Given the description of an element on the screen output the (x, y) to click on. 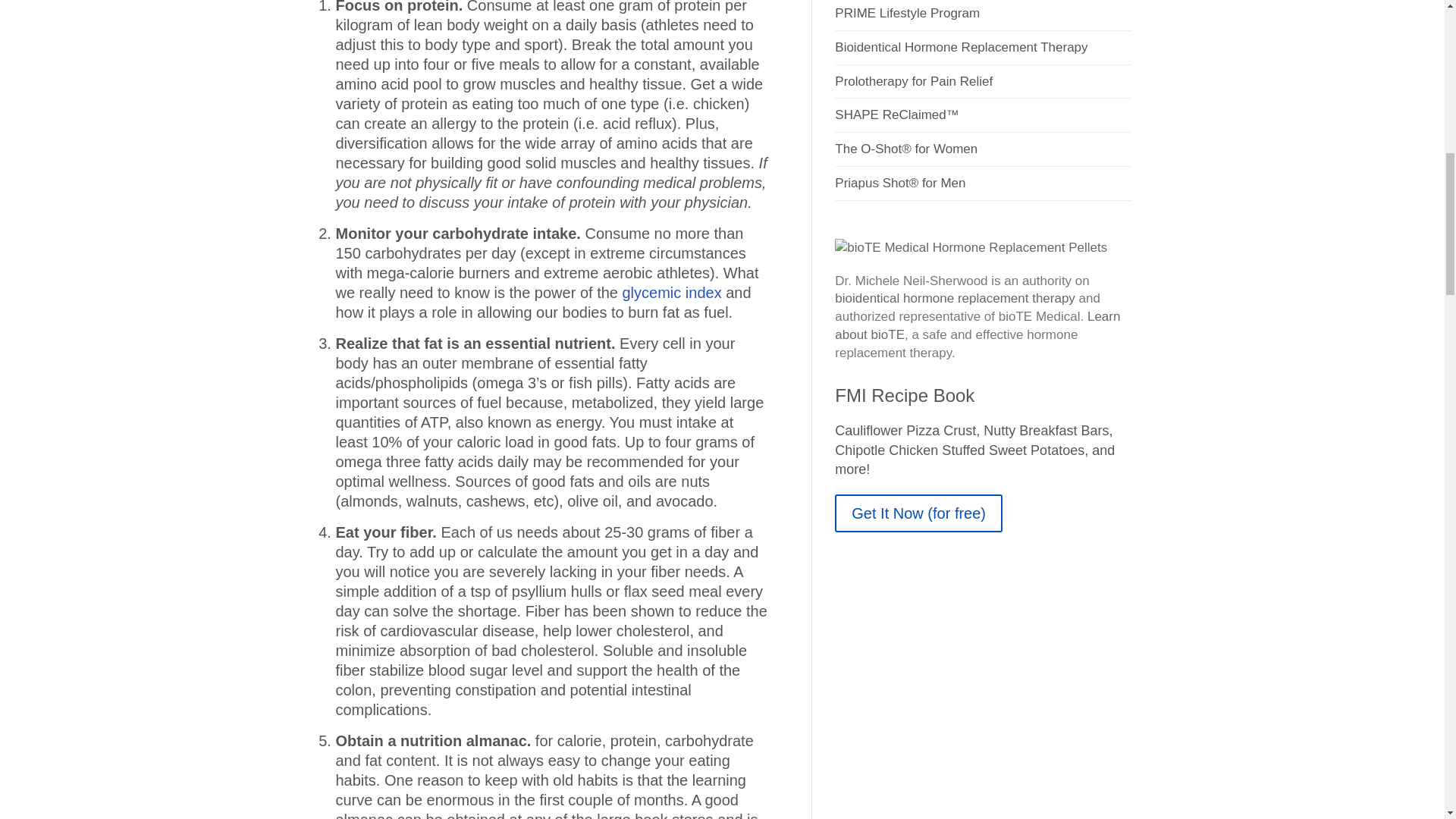
PRIME Lifestyle Program (982, 15)
bioidentical hormone replacement therapy (954, 298)
Bioidentical Hormone Replacement Therapy (982, 47)
glycemic index (670, 292)
Prolotherapy for Pain Relief (982, 81)
Learn about bioTE (976, 325)
